Given the description of an element on the screen output the (x, y) to click on. 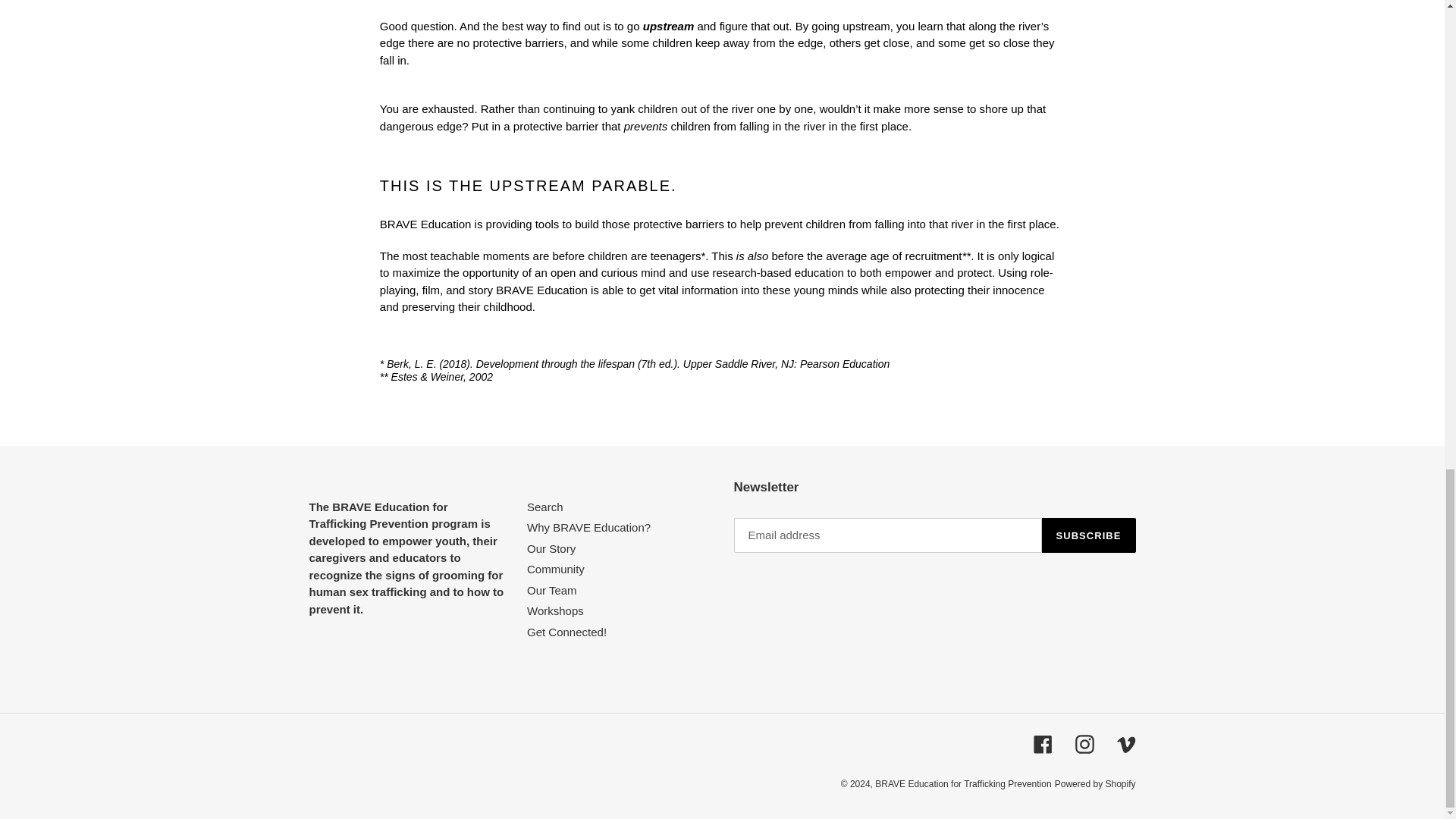
Community (556, 568)
Our Story (551, 548)
Get Connected! (567, 631)
Powered by Shopify (1094, 783)
Search (545, 506)
Facebook (1041, 743)
Why BRAVE Education? (588, 526)
Vimeo (1125, 743)
Workshops (555, 610)
Instagram (1084, 743)
BRAVE Education for Trafficking Prevention (963, 783)
SUBSCRIBE (1088, 534)
Our Team (551, 590)
